Given the description of an element on the screen output the (x, y) to click on. 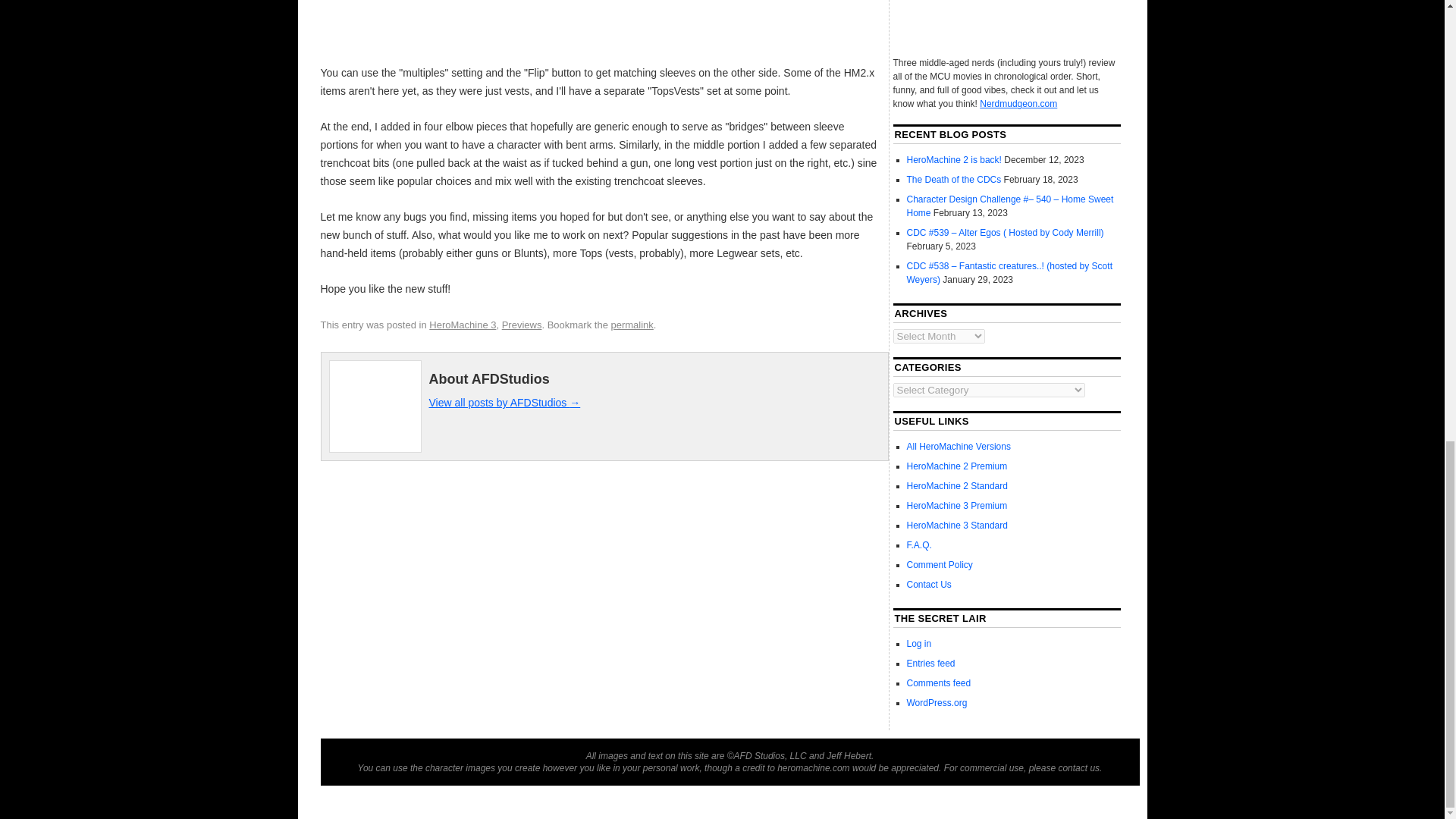
Previews (521, 324)
permalink (631, 324)
F.A.Q. (919, 544)
HeroMachine 2 Premium (957, 466)
Permalink to HM3: Coats soothe, relieve (631, 324)
tops-coats (601, 29)
HeroMachine 3 Standard (957, 525)
HeroMachine 3 (462, 324)
HeroMachine 2 Standard (957, 485)
Nerdmudgeon.com (1018, 103)
